Given the description of an element on the screen output the (x, y) to click on. 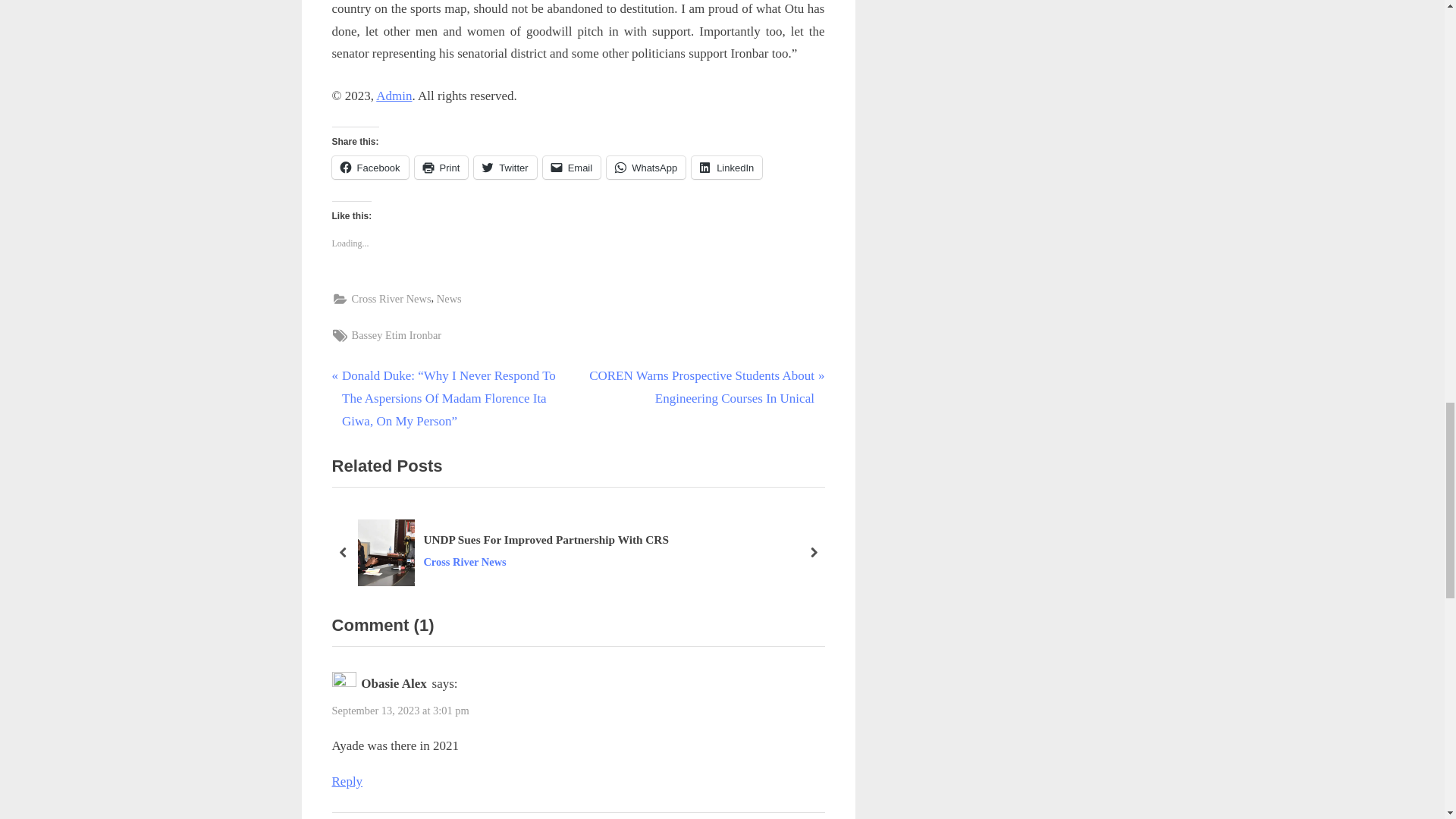
Click to share on Facebook (370, 167)
Click to share on WhatsApp (646, 167)
Click to print (441, 167)
Click to share on LinkedIn (726, 167)
Click to share on Twitter (504, 167)
Click to email a link to a friend (572, 167)
